Given the description of an element on the screen output the (x, y) to click on. 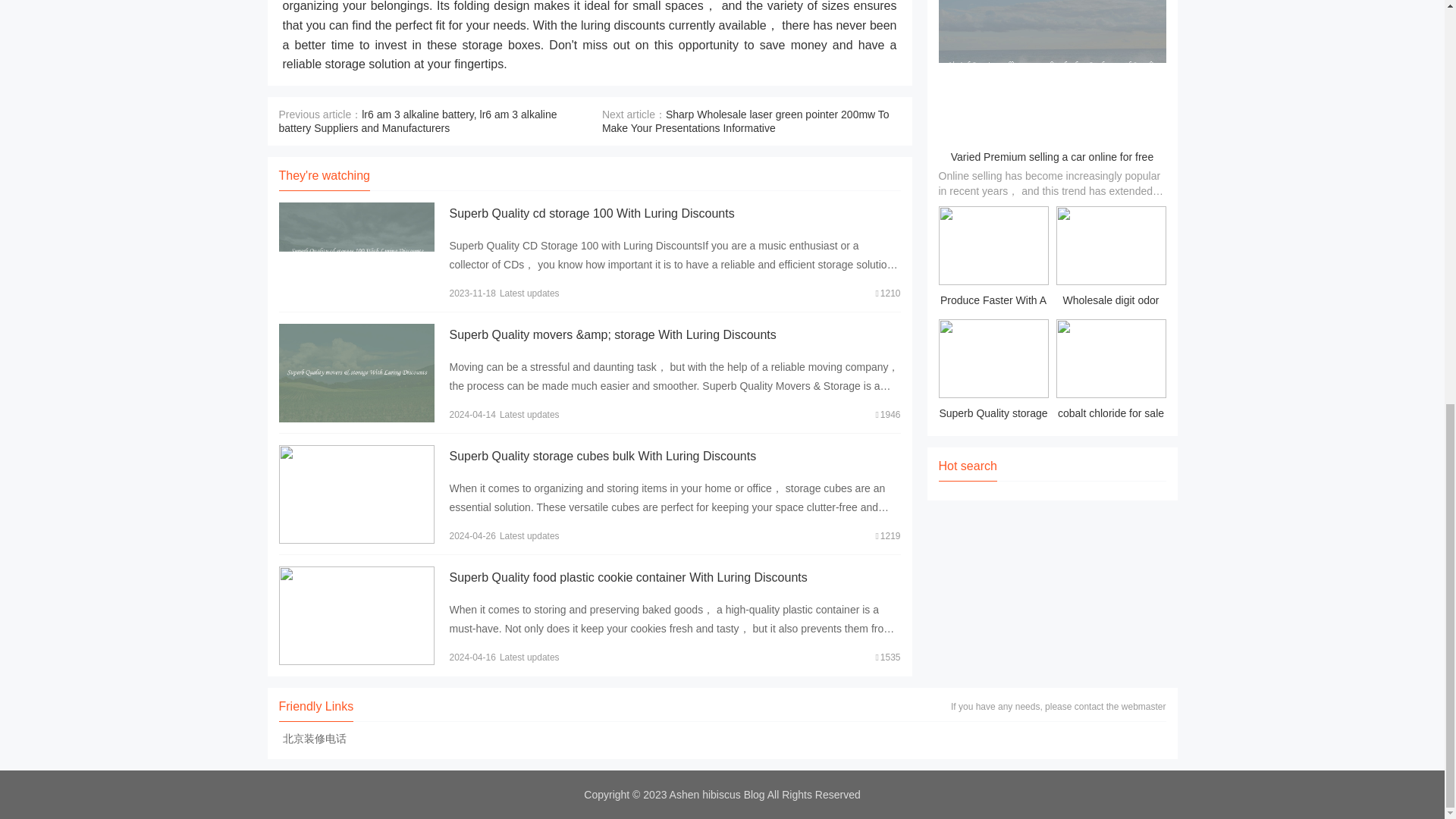
Superb Quality cd storage 100 With Luring Discounts (590, 213)
Produce Faster With A Wholesale ointment filling machinery (993, 259)
Superb Quality storage cubes bulk With Luring Discounts (993, 372)
Wholesale digit odor for Cleaner and Fresher Air (1110, 259)
Superb Quality storage cubes bulk With Luring Discounts (601, 455)
